Given the description of an element on the screen output the (x, y) to click on. 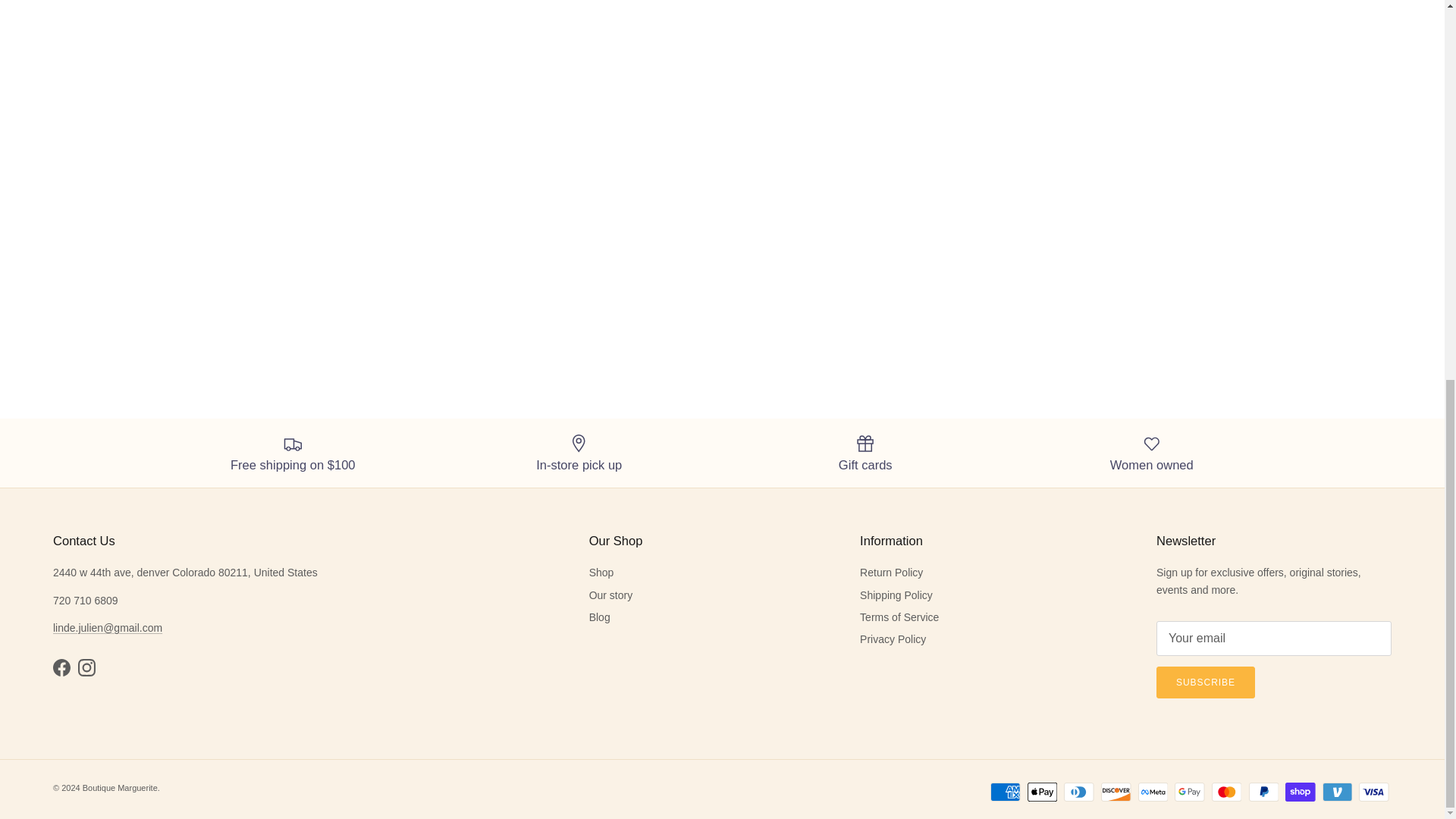
PayPal (1262, 791)
Meta Pay (1152, 791)
Google Pay (1189, 791)
Shop Pay (1299, 791)
Visa (1373, 791)
American Express (1005, 791)
Boutique Marguerite on Instagram (87, 667)
Discover (1115, 791)
Mastercard (1226, 791)
Diners Club (1078, 791)
Apple Pay (1042, 791)
Boutique Marguerite on Facebook (60, 667)
Venmo (1337, 791)
